Given the description of an element on the screen output the (x, y) to click on. 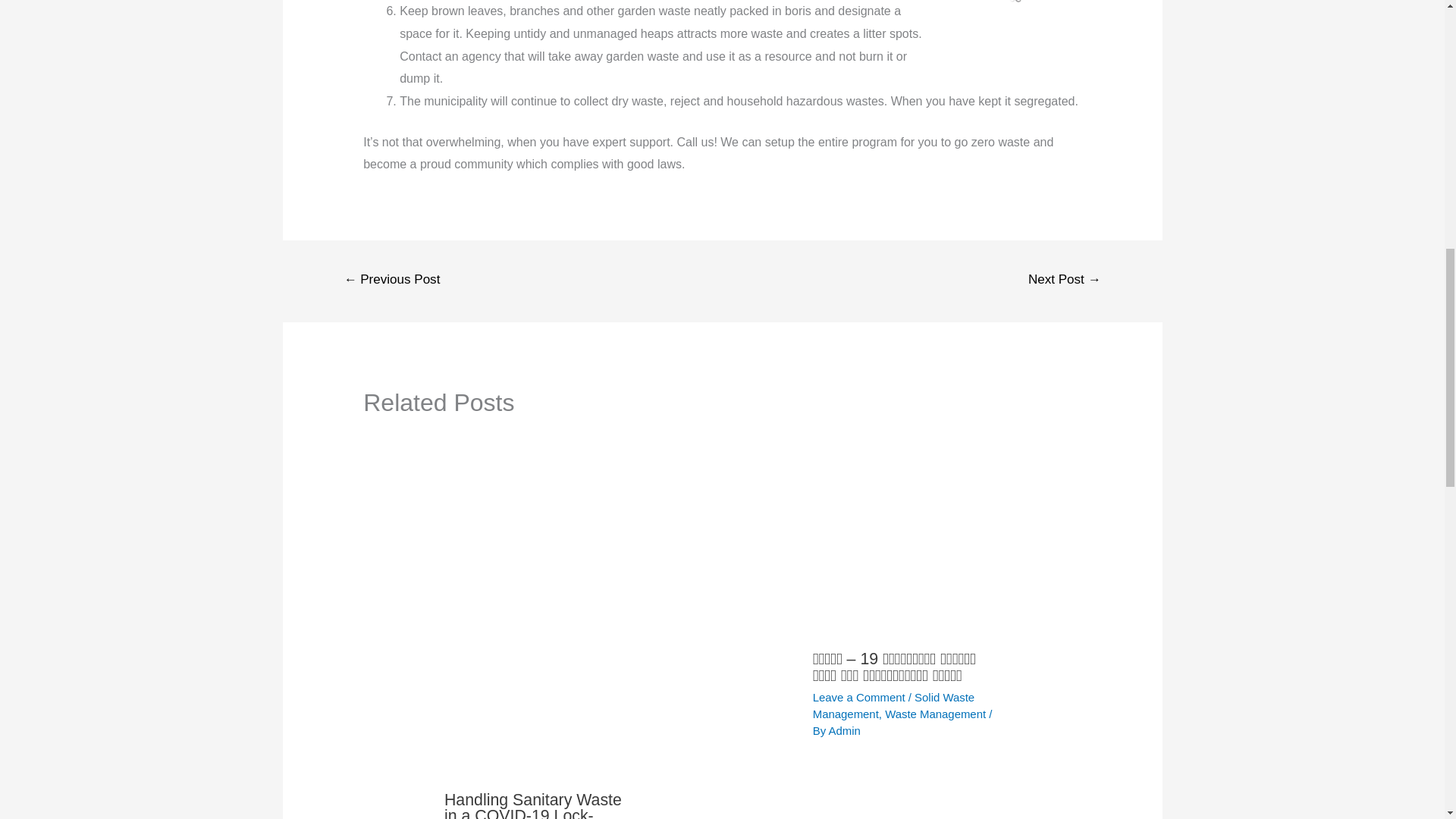
Handling Sanitary Waste in a COVID-19 Lock-down (532, 805)
View all posts by Admin (844, 730)
Leave a Comment (858, 697)
Solid Waste Management (893, 705)
Waste Management (935, 713)
Admin (844, 730)
